Given the description of an element on the screen output the (x, y) to click on. 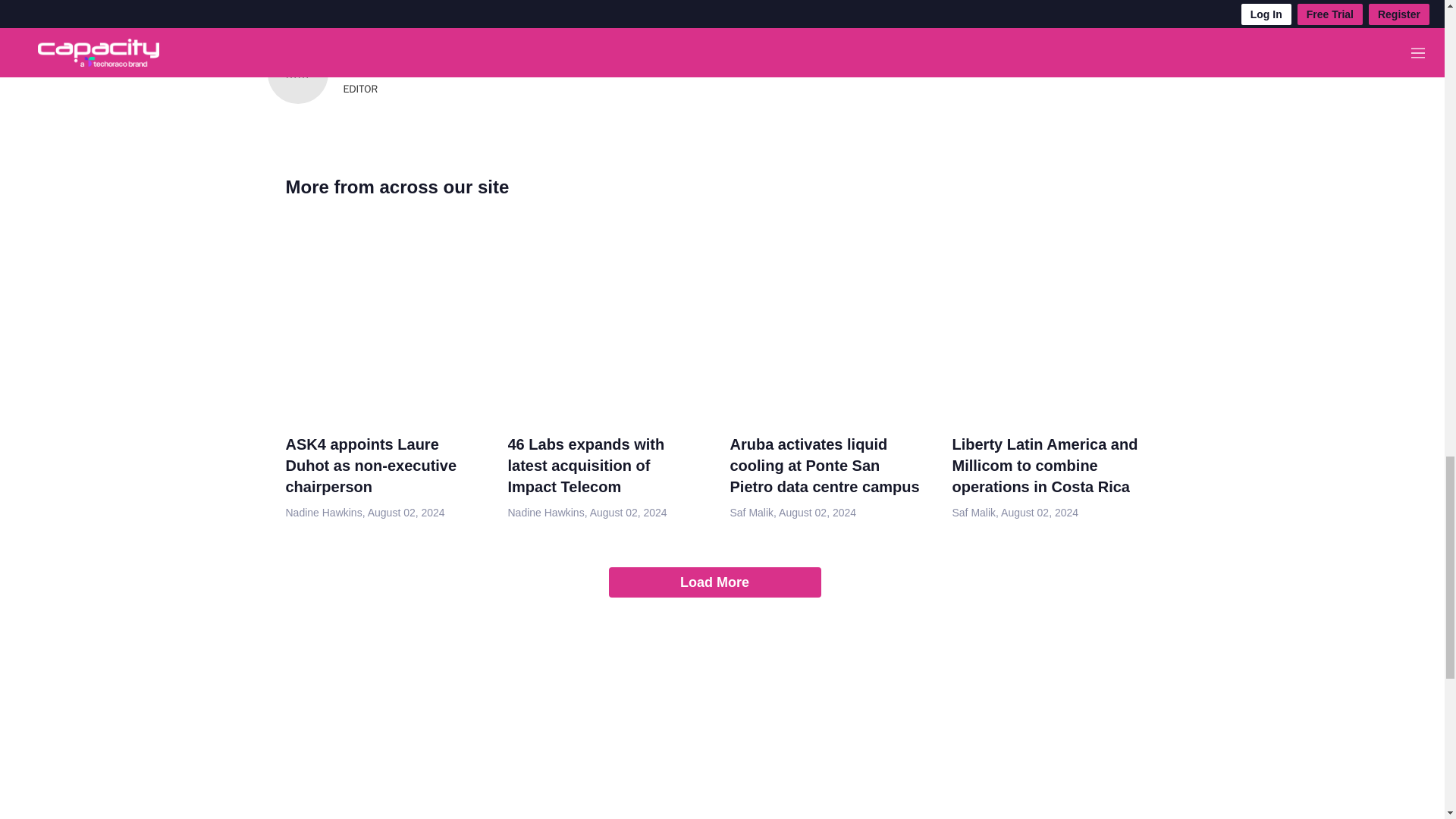
3rd party ad content (715, 714)
